Given the description of an element on the screen output the (x, y) to click on. 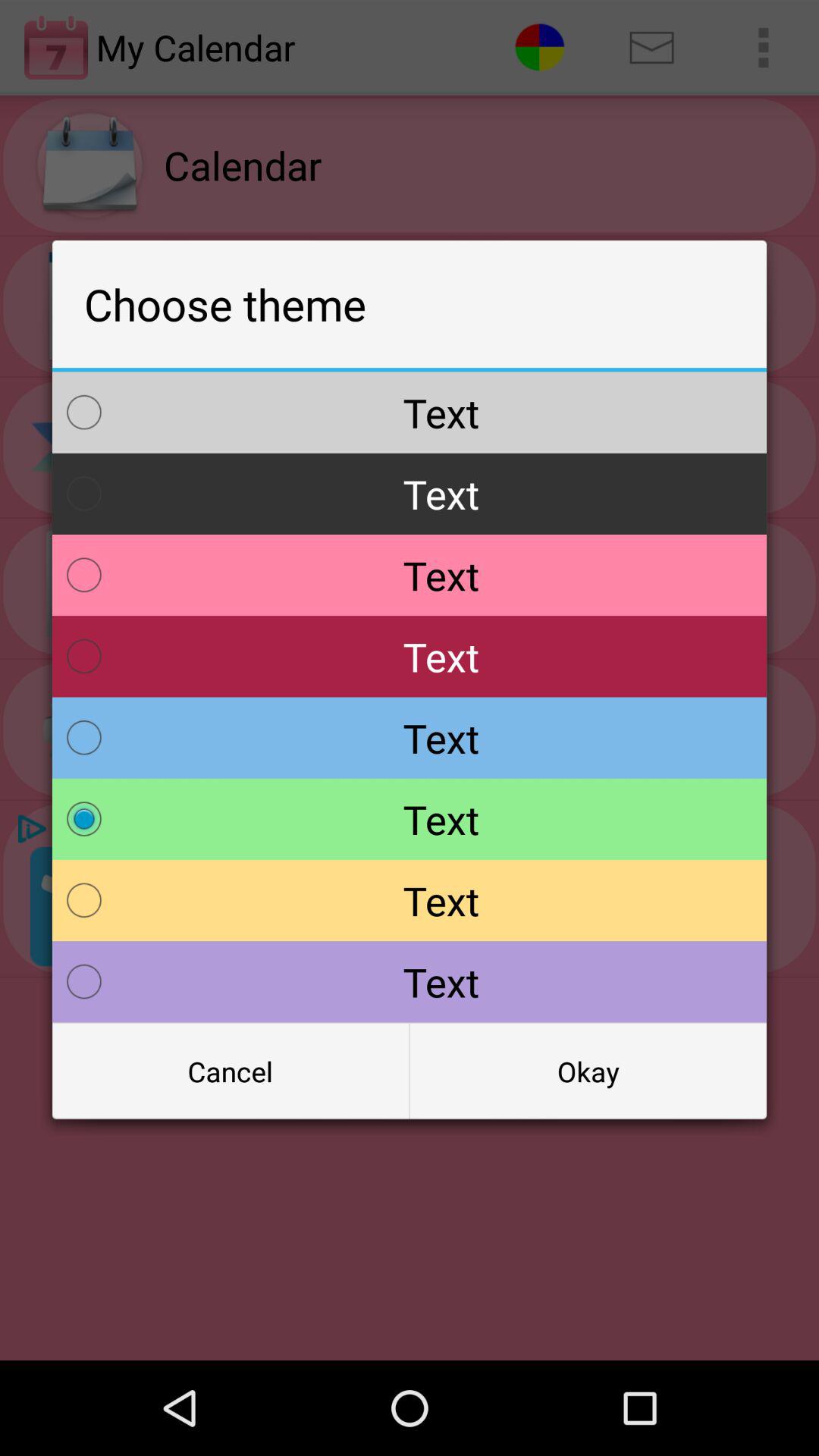
turn on the icon at the bottom left corner (230, 1071)
